Given the description of an element on the screen output the (x, y) to click on. 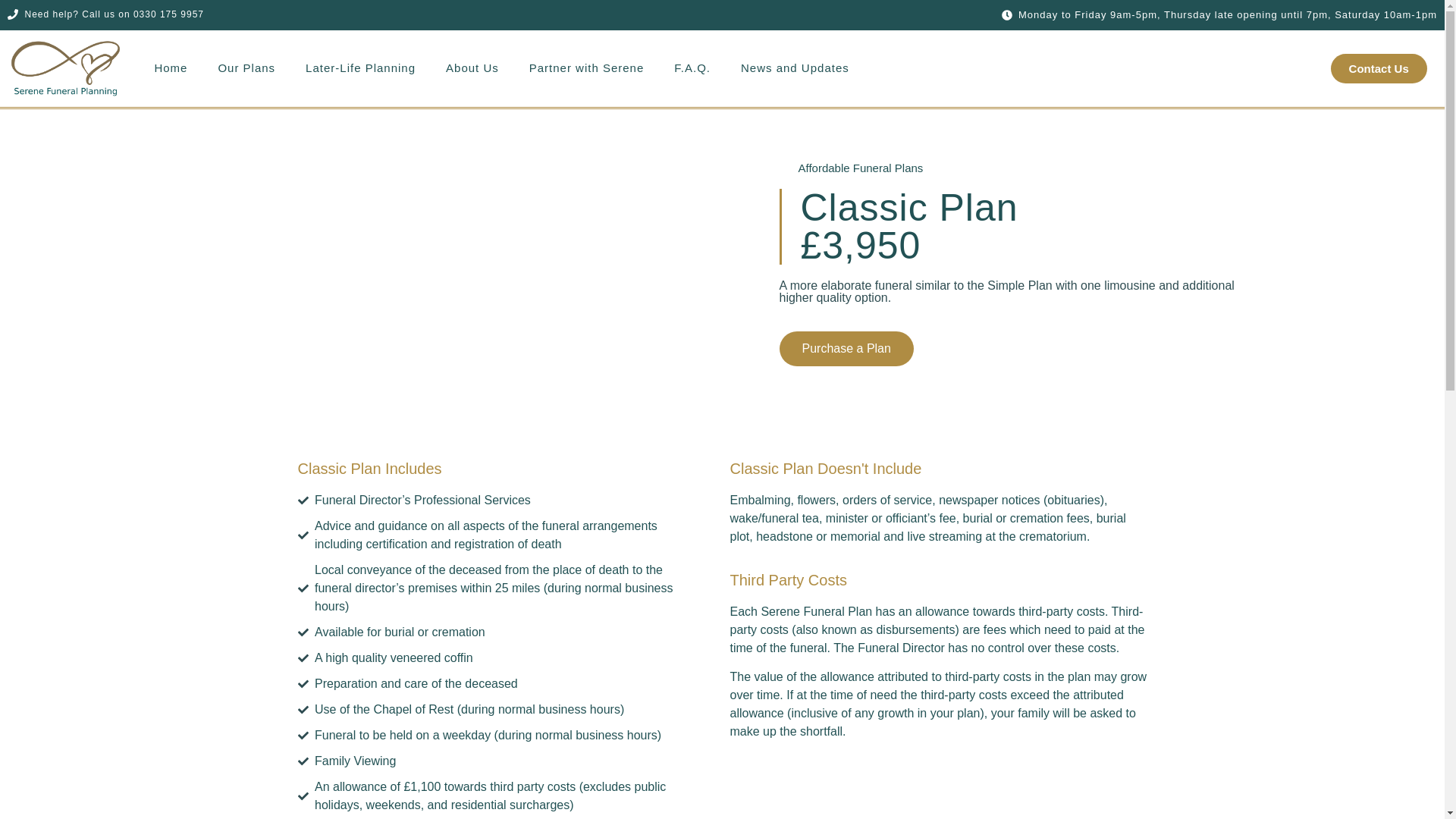
Purchase a Plan (846, 348)
News and Updates (794, 67)
About Us (471, 67)
Partner with Serene (586, 67)
Later-Life Planning (359, 67)
Contact Us (1378, 68)
Our Plans (245, 67)
Home (170, 67)
F.A.Q. (692, 67)
